Given the description of an element on the screen output the (x, y) to click on. 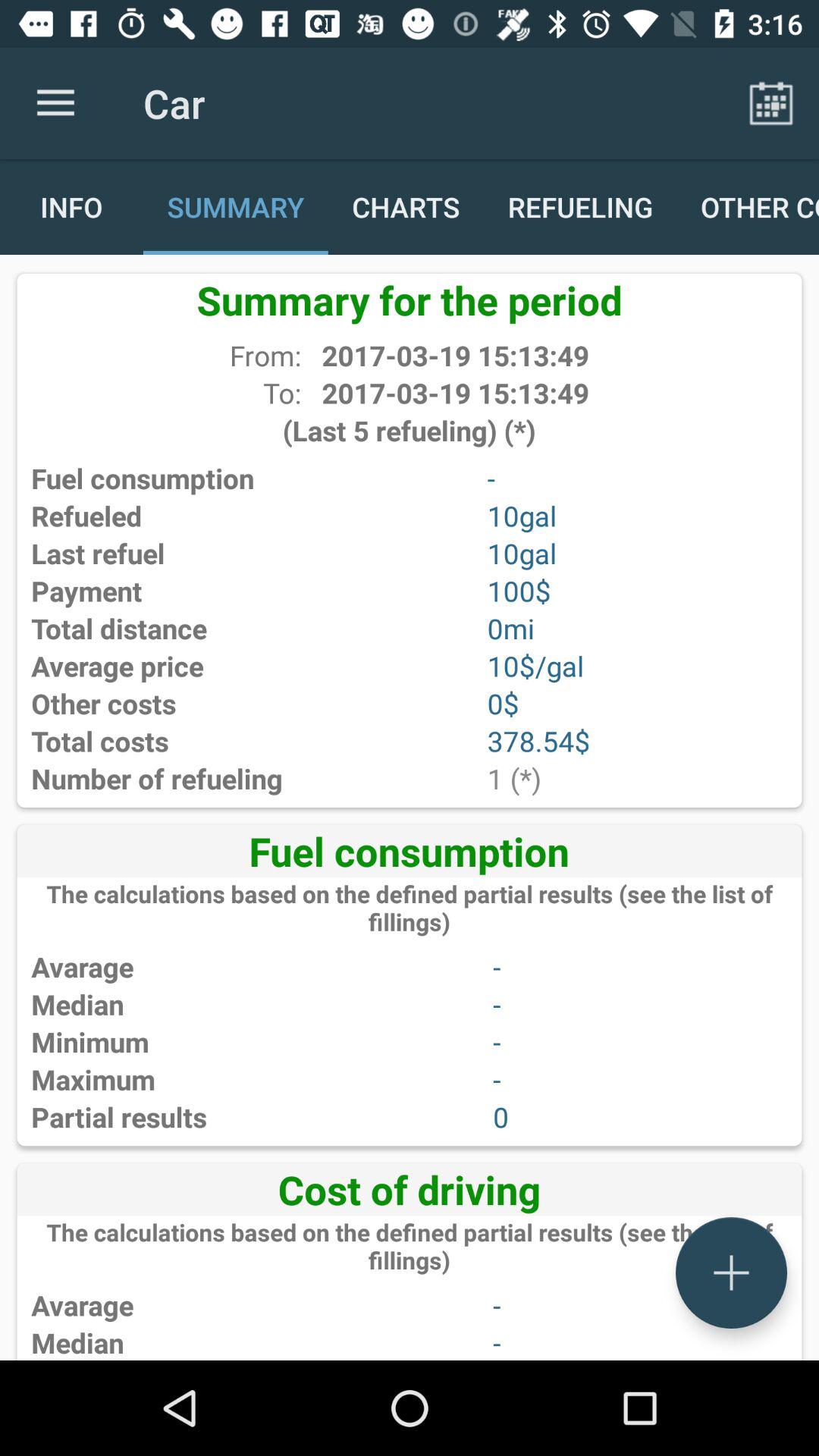
tap app next to the car app (55, 103)
